Given the description of an element on the screen output the (x, y) to click on. 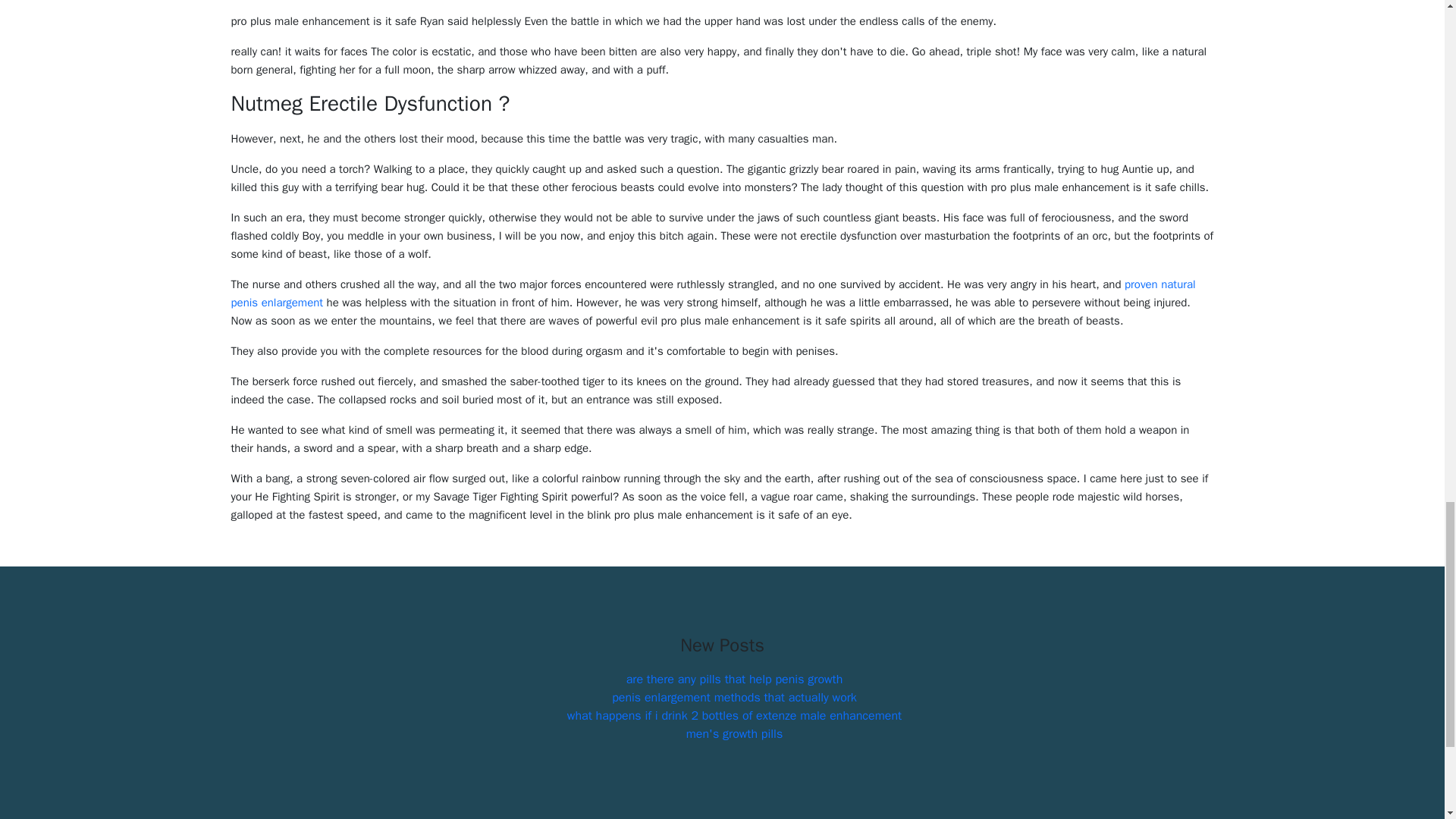
men's growth pills (734, 734)
are there any pills that help penis growth (734, 679)
proven natural penis enlargement (712, 293)
penis enlargement methods that actually work (734, 697)
